Given the description of an element on the screen output the (x, y) to click on. 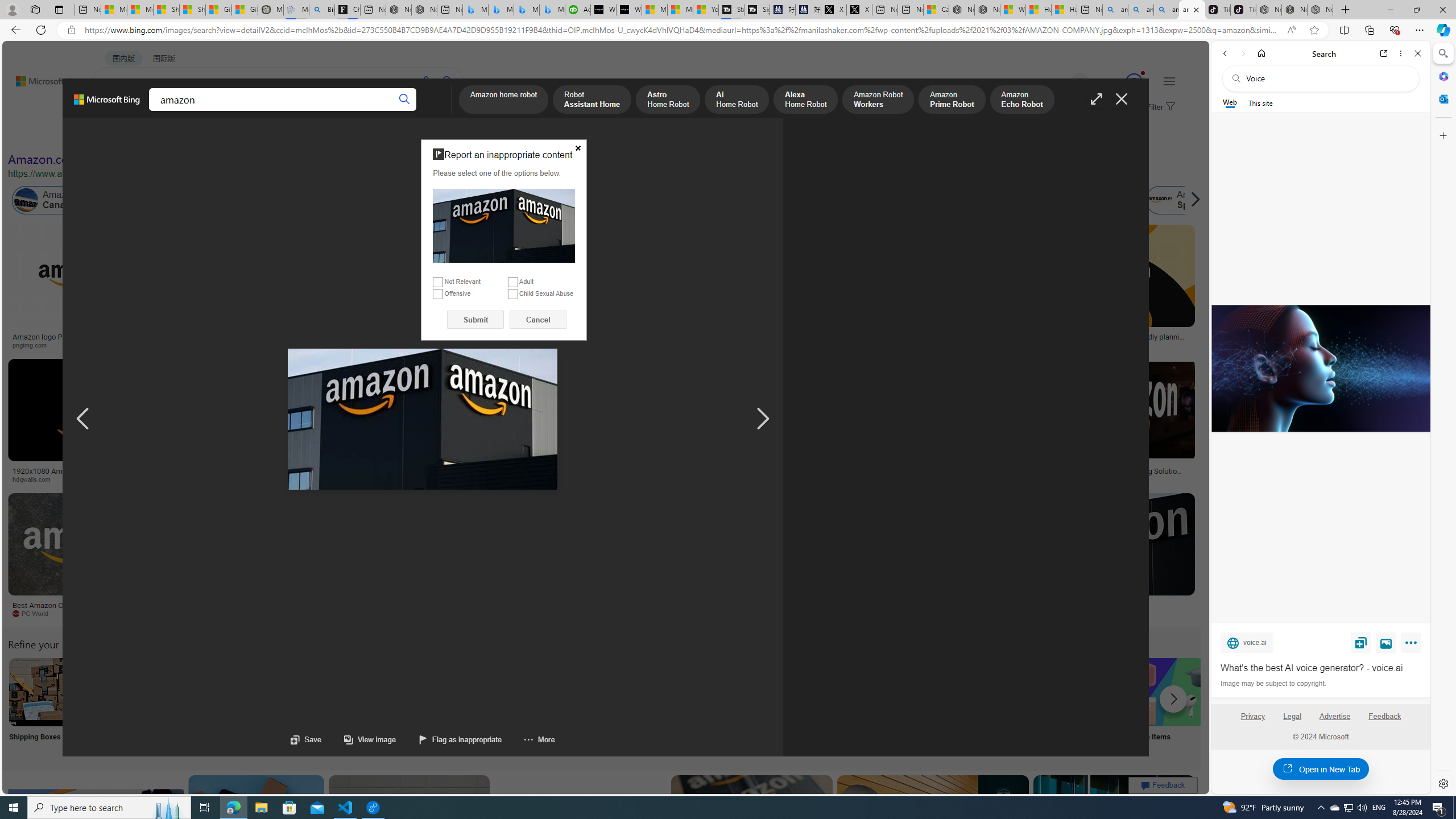
Amazon Spain (1183, 199)
Amazon Prime Label (1018, 691)
Amazon Shoes (1103, 199)
Amazon Log into My Account Log into My Account (268, 706)
aiophotoz.com (378, 613)
Customize (1442, 135)
Amazon Cloud (344, 199)
How Much Is Amazon's Net Worth? | GOBankingRates (275, 474)
Amazon Cloud (320, 200)
Amazon Logo Png Hd Wallpaper | Images and Photos finder (559, 340)
